Given the description of an element on the screen output the (x, y) to click on. 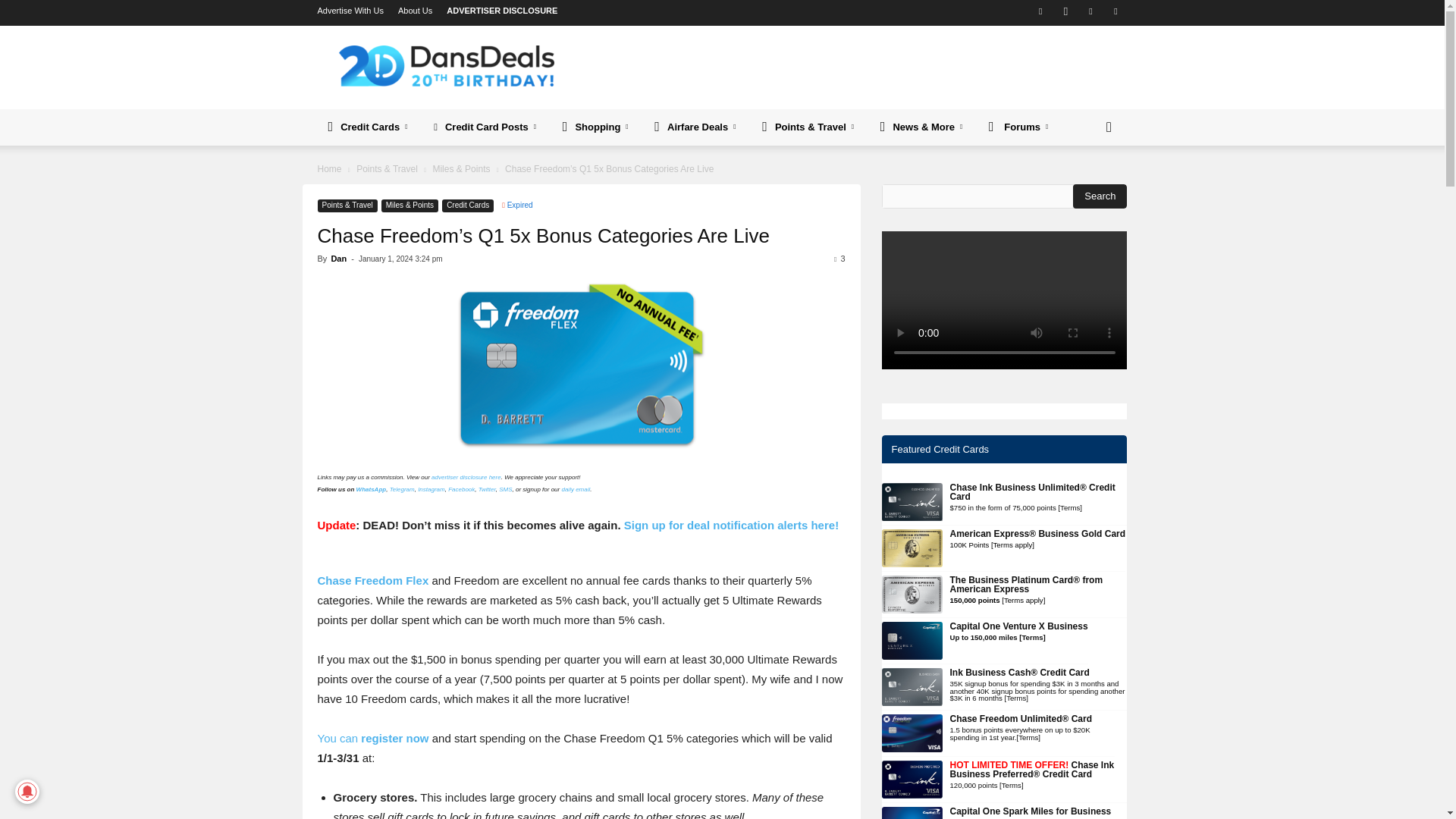
Facebook (1040, 10)
Twitter (1090, 10)
Youtube (1114, 10)
Instagram (1065, 10)
Search (1099, 196)
